Given the description of an element on the screen output the (x, y) to click on. 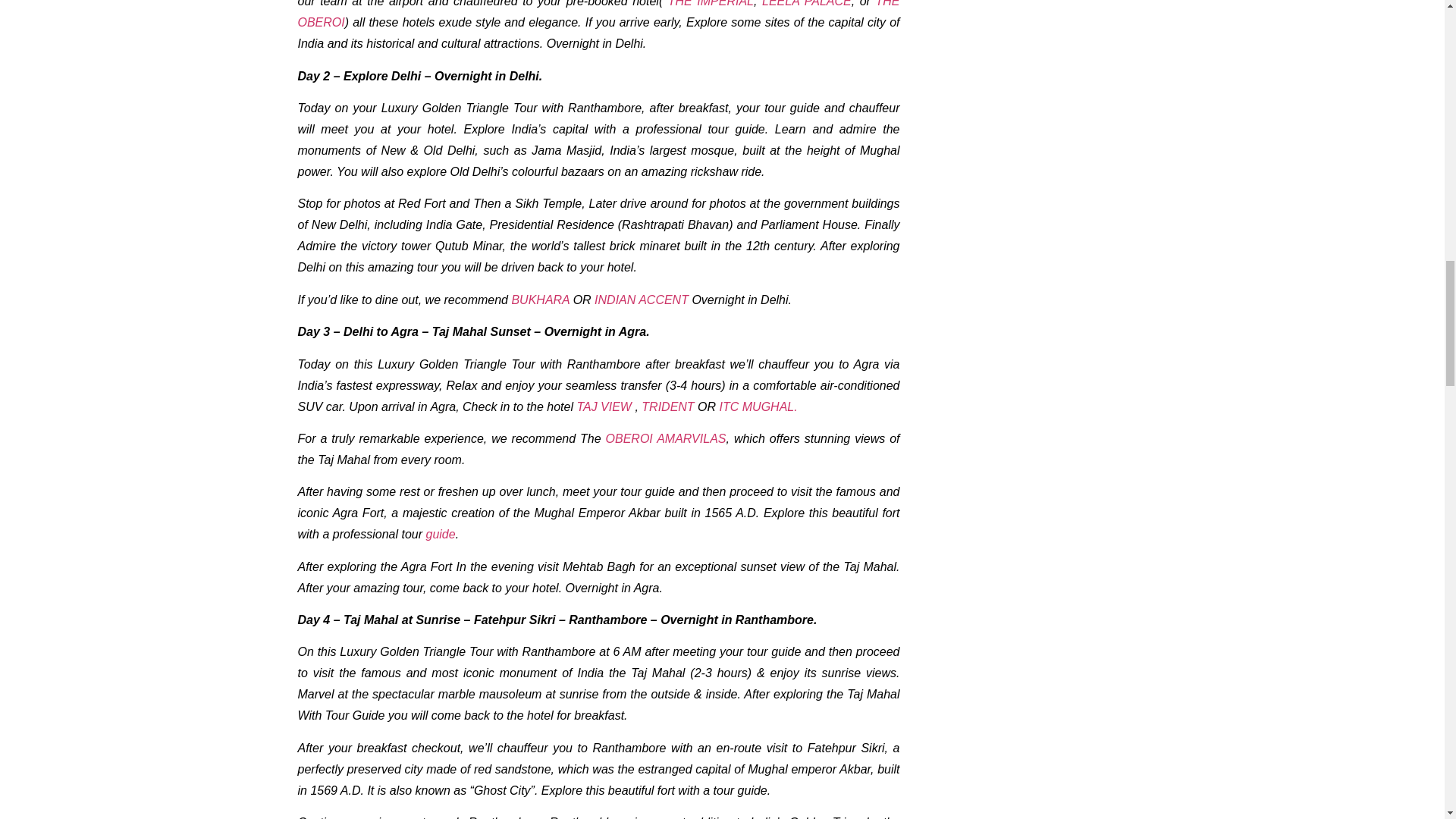
THE IMPERIAL (711, 3)
TAJ VIEW (603, 406)
ITC MUGHAL.  (760, 406)
guide (438, 533)
THE OBEROI (598, 14)
LEELA PALACE (806, 3)
INDIAN ACCENT (641, 299)
OBEROI AMARVILAS (665, 438)
TRIDENT (668, 406)
BUKHARA (540, 299)
